Given the description of an element on the screen output the (x, y) to click on. 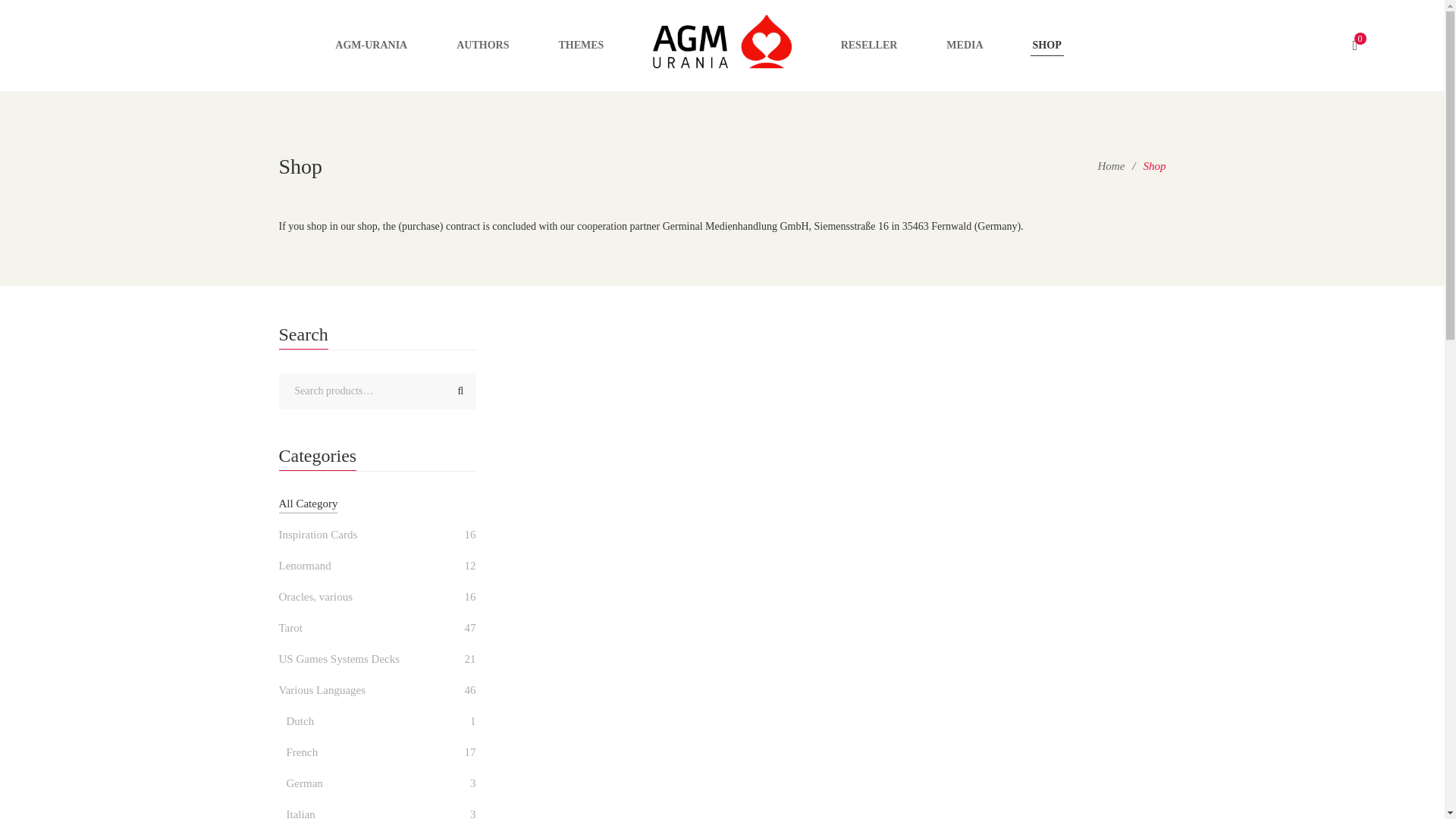
MEDIA (964, 45)
0 (1360, 45)
AUTHORS (482, 45)
AGM-URANIA (370, 45)
Tarotworld- (721, 45)
RESELLER (869, 45)
Home (1111, 165)
THEMES (580, 45)
